Given the description of an element on the screen output the (x, y) to click on. 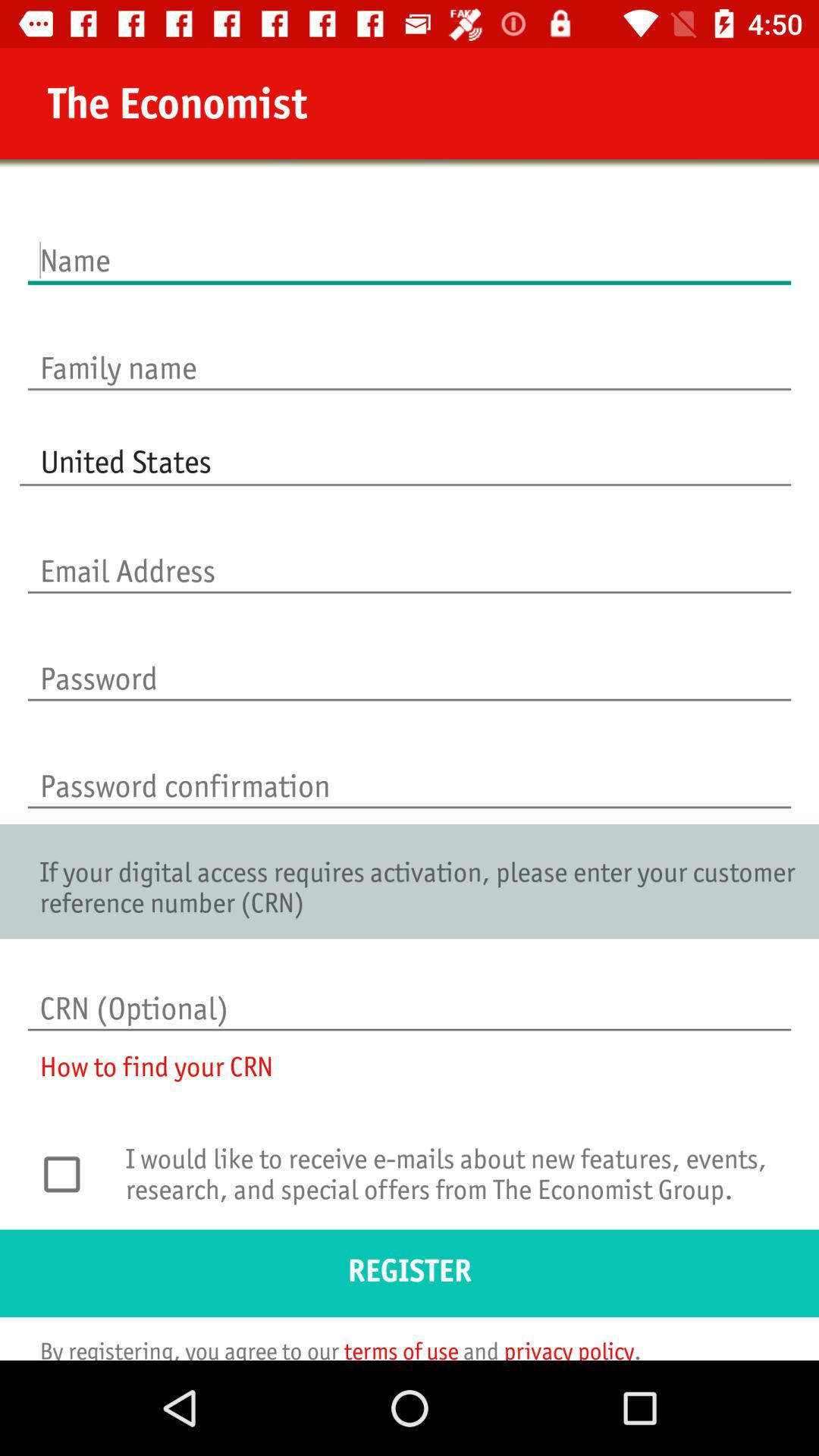
enter your customer reference numer optional (409, 992)
